Given the description of an element on the screen output the (x, y) to click on. 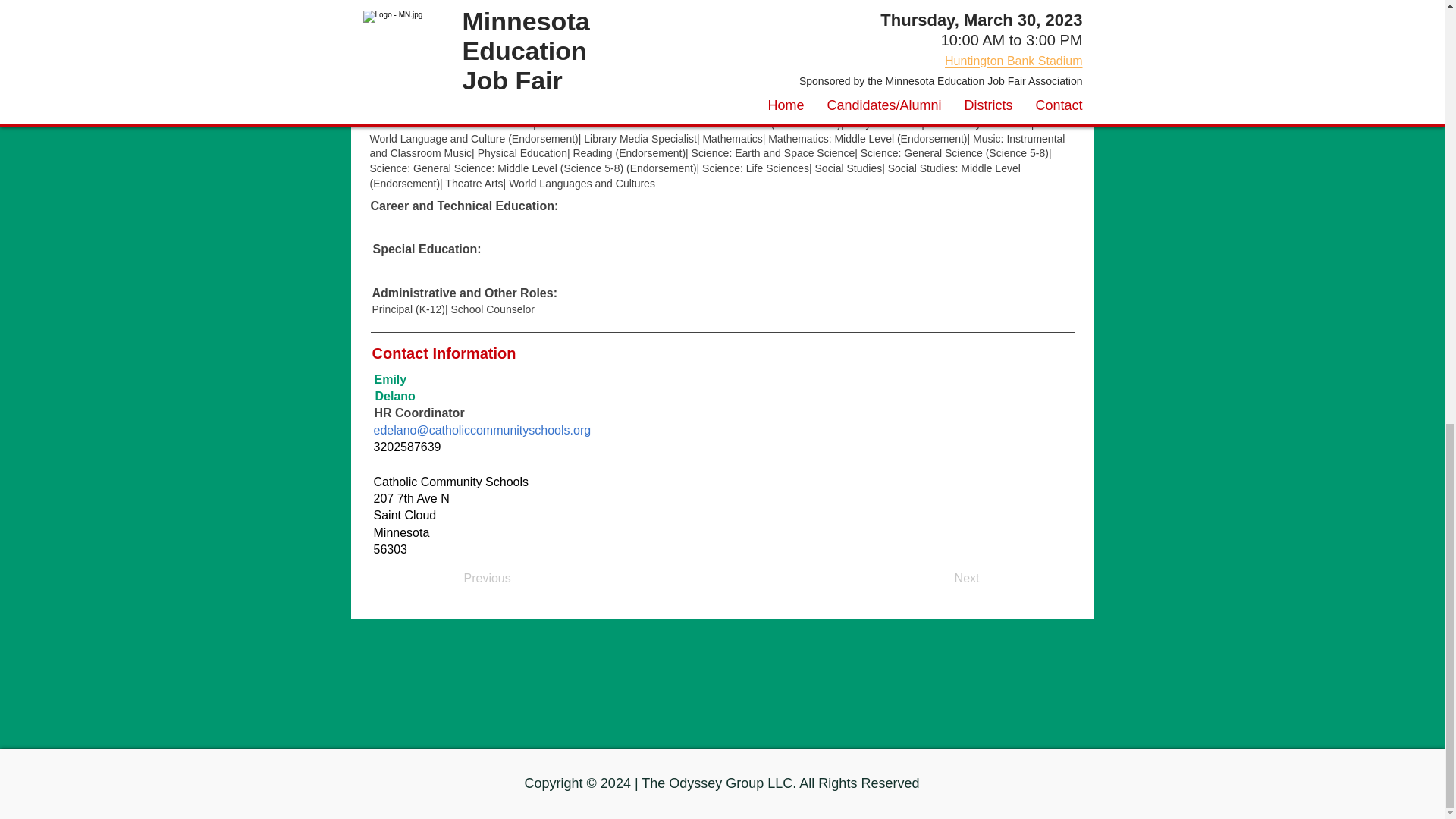
Previous (514, 578)
Next (941, 578)
